Given the description of an element on the screen output the (x, y) to click on. 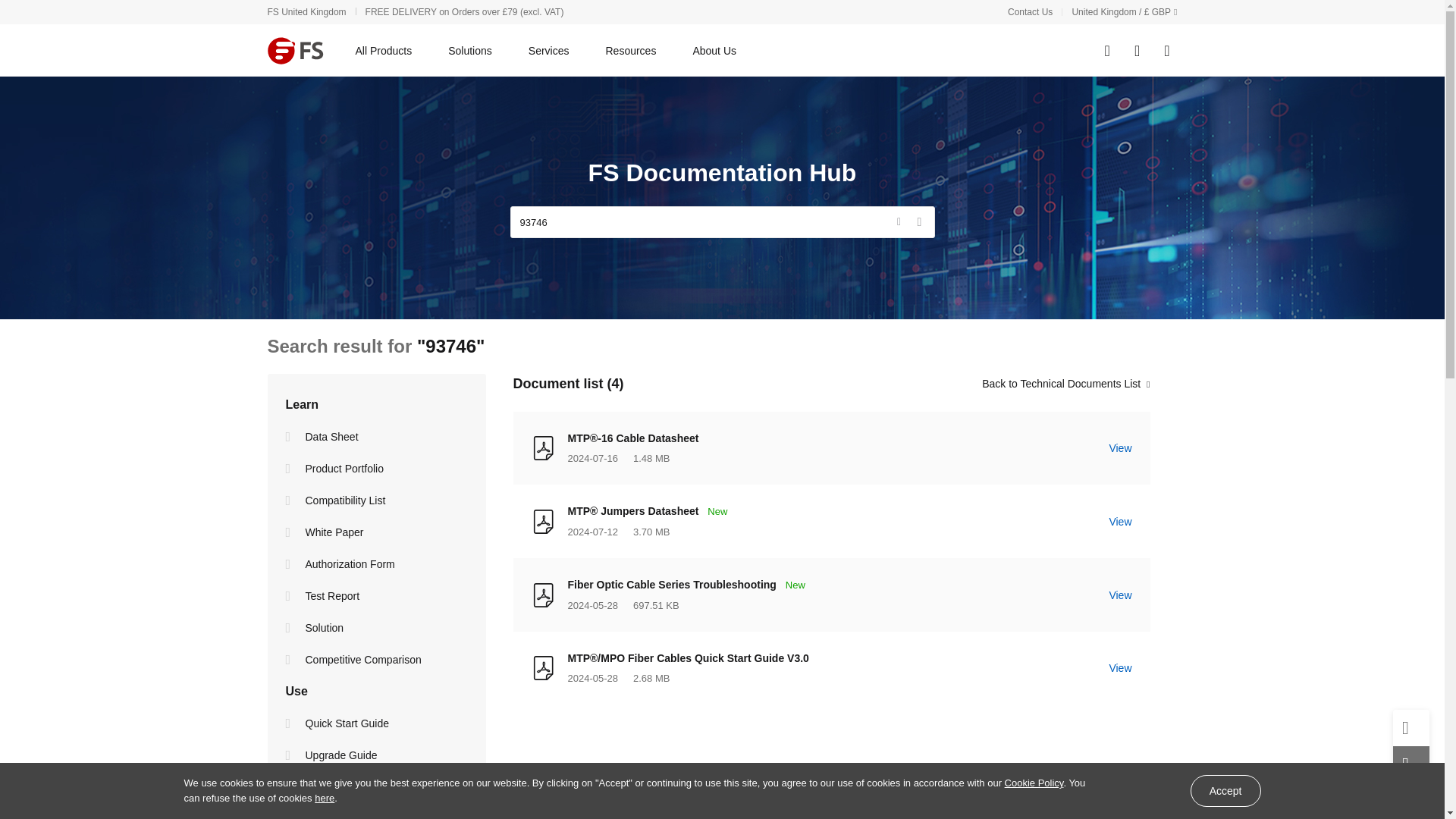
Compatibility List (291, 499)
Competitive Comparison (291, 659)
Visio (291, 786)
Solution (291, 627)
Upgrade Guide (291, 755)
93746 (721, 222)
Configuration Guide (291, 815)
Test Report (291, 595)
FS United Kingdom (315, 11)
Quick Start Guide (291, 723)
